Given the description of an element on the screen output the (x, y) to click on. 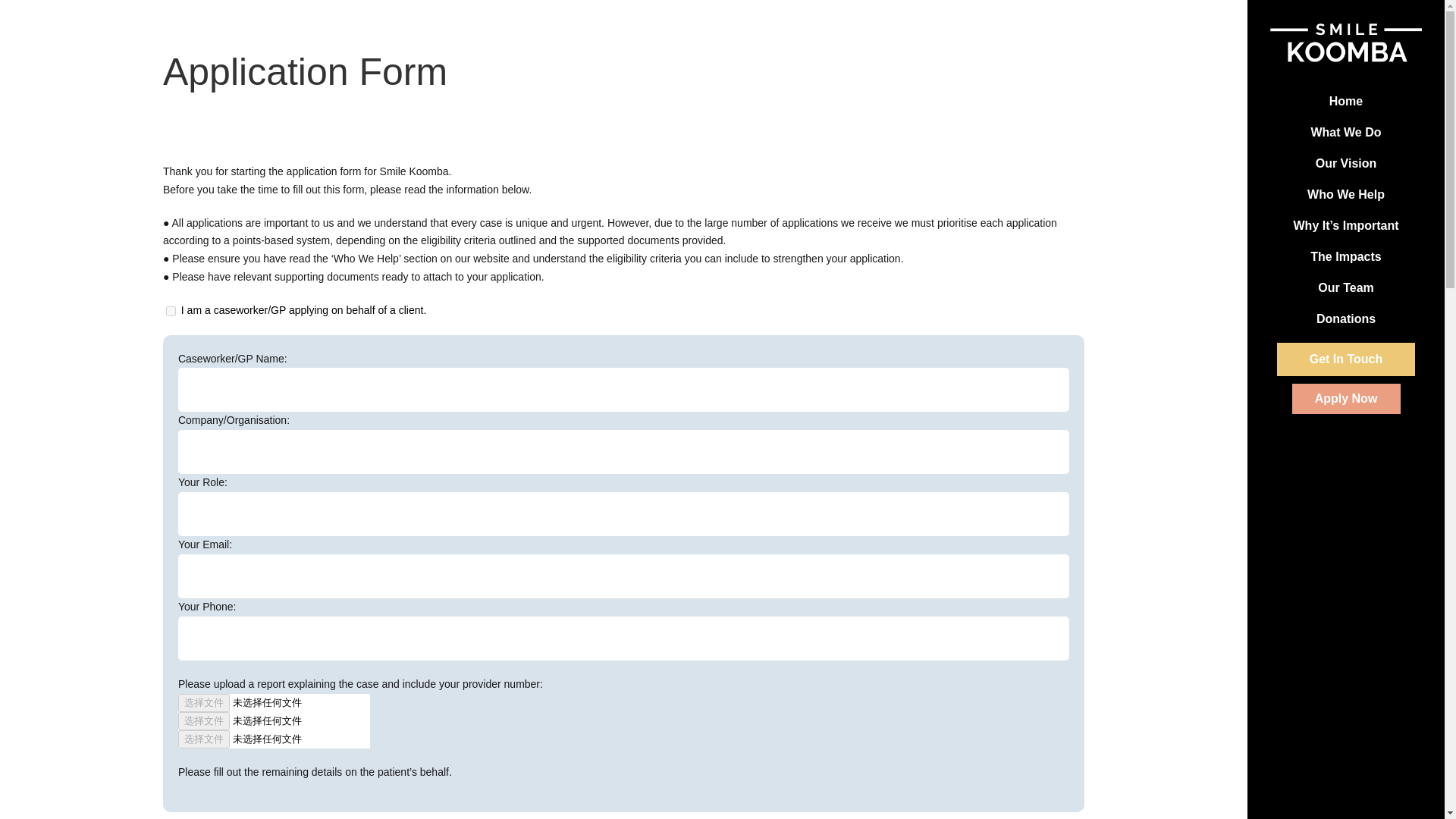
Get In Touch (1345, 359)
Apply Now (1346, 399)
